Given the description of an element on the screen output the (x, y) to click on. 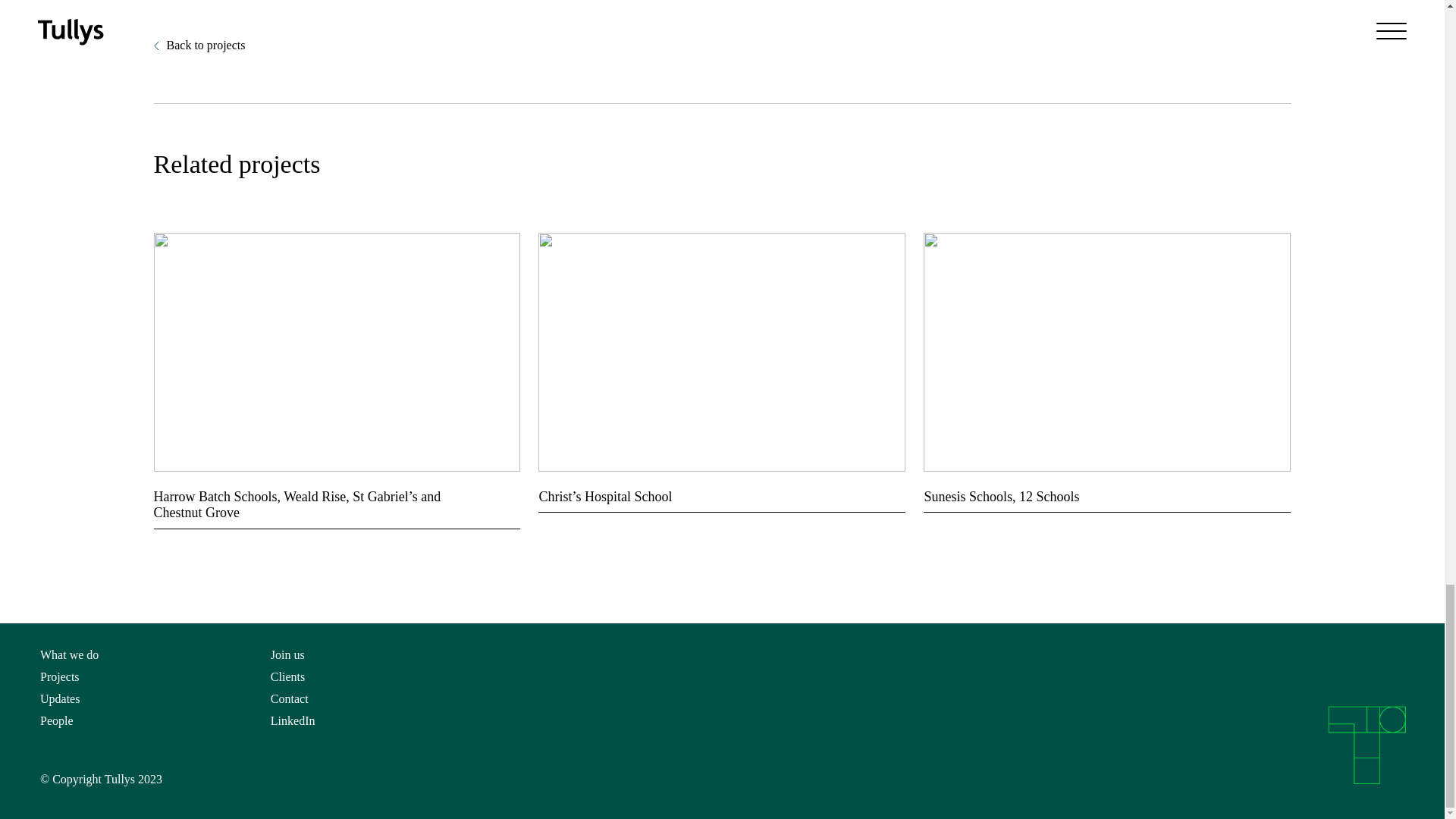
Clients (287, 676)
Contact (289, 698)
People (57, 720)
Projects (60, 676)
LinkedIn (292, 720)
What we do (69, 654)
Updates (60, 698)
Sunesis Schools, 12 Schools (1106, 487)
Join us (287, 654)
Back to projects (198, 47)
